Given the description of an element on the screen output the (x, y) to click on. 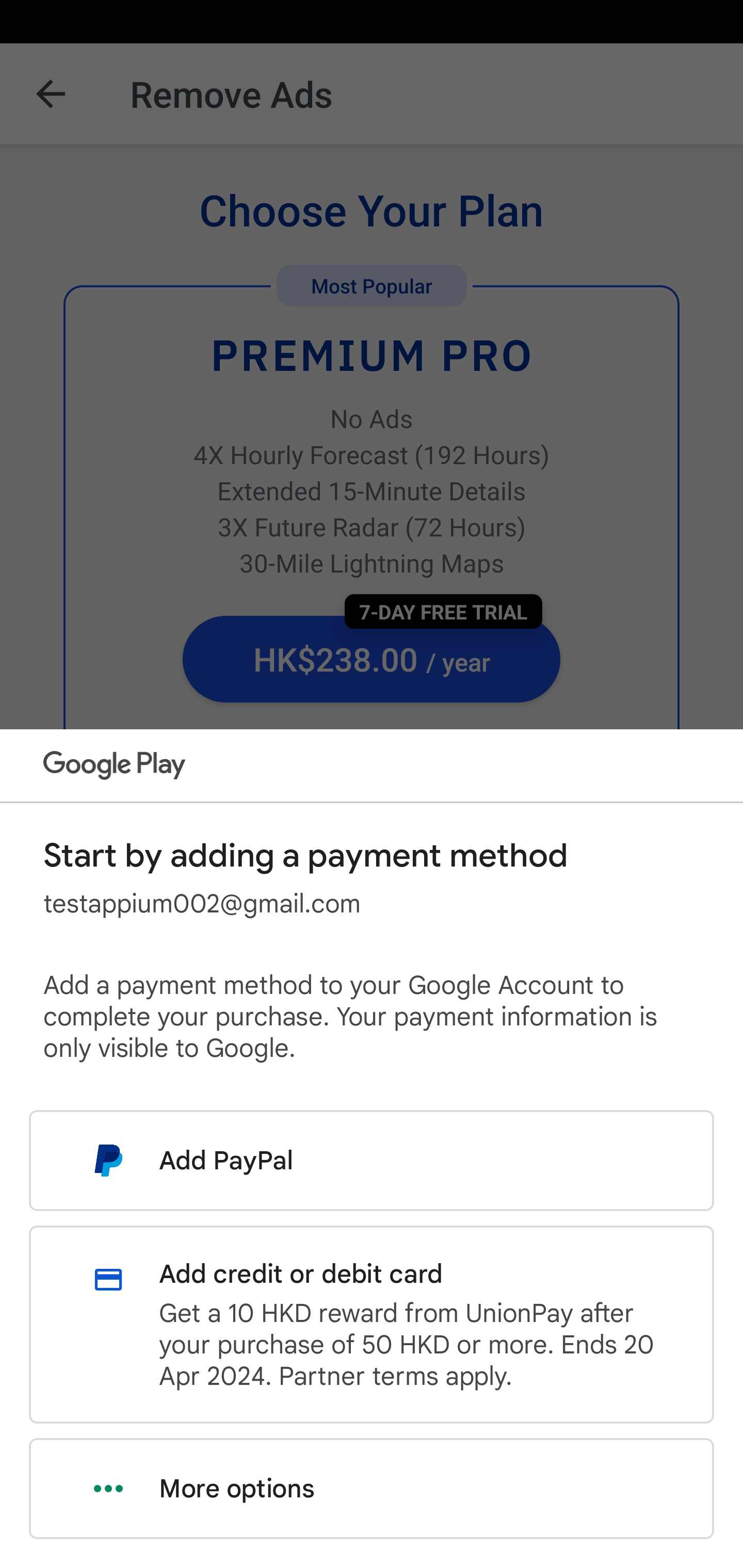
Add PayPal (371, 1160)
More options (371, 1488)
